Given the description of an element on the screen output the (x, y) to click on. 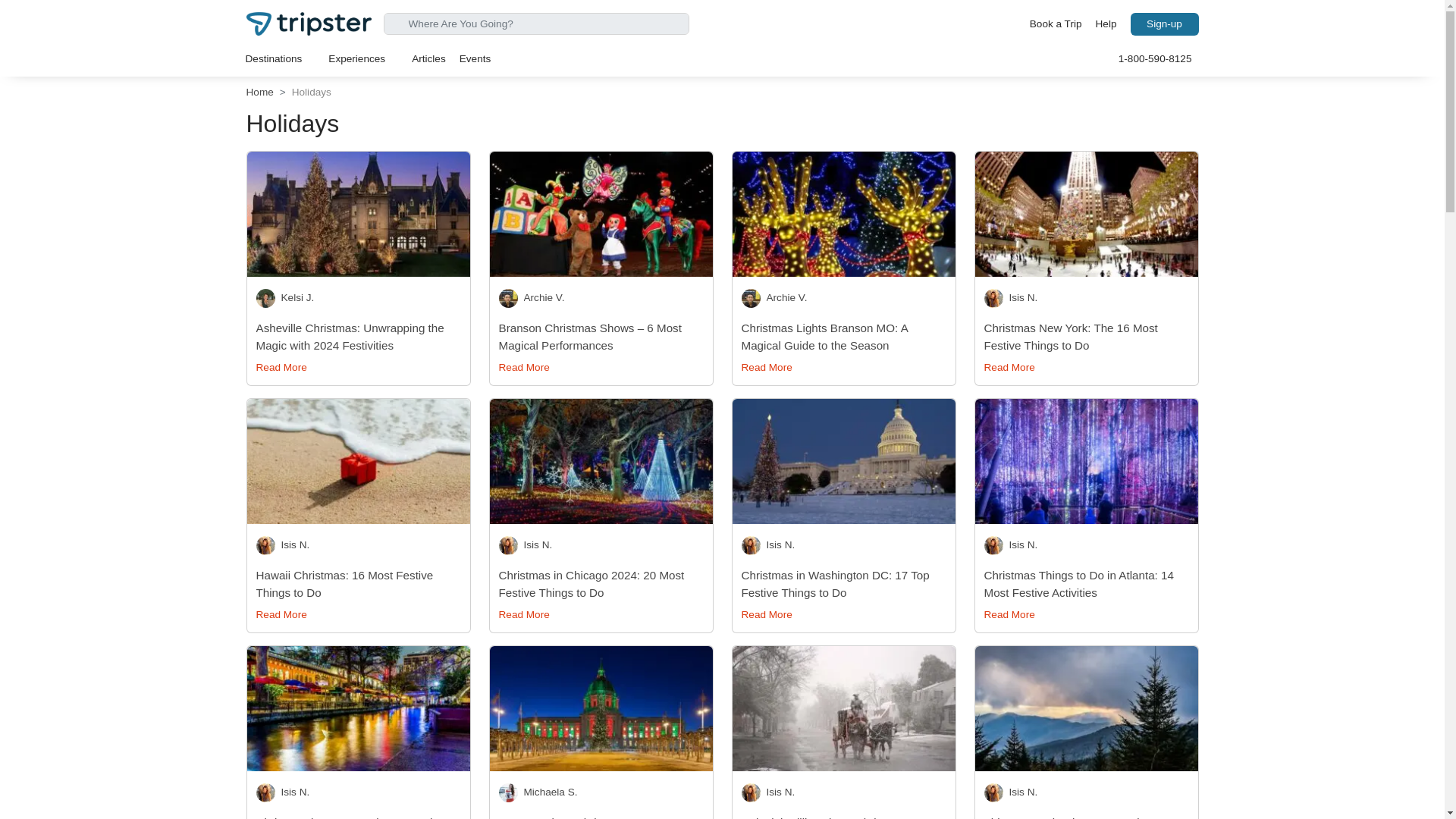
Book a Trip (1056, 24)
Experiences (362, 58)
Help (1106, 24)
Articles (428, 58)
Events (474, 58)
1-800-590-8125 (1155, 58)
Kelsi J. (363, 298)
Home (259, 91)
Destinations (279, 58)
Sign-up (1163, 23)
